Given the description of an element on the screen output the (x, y) to click on. 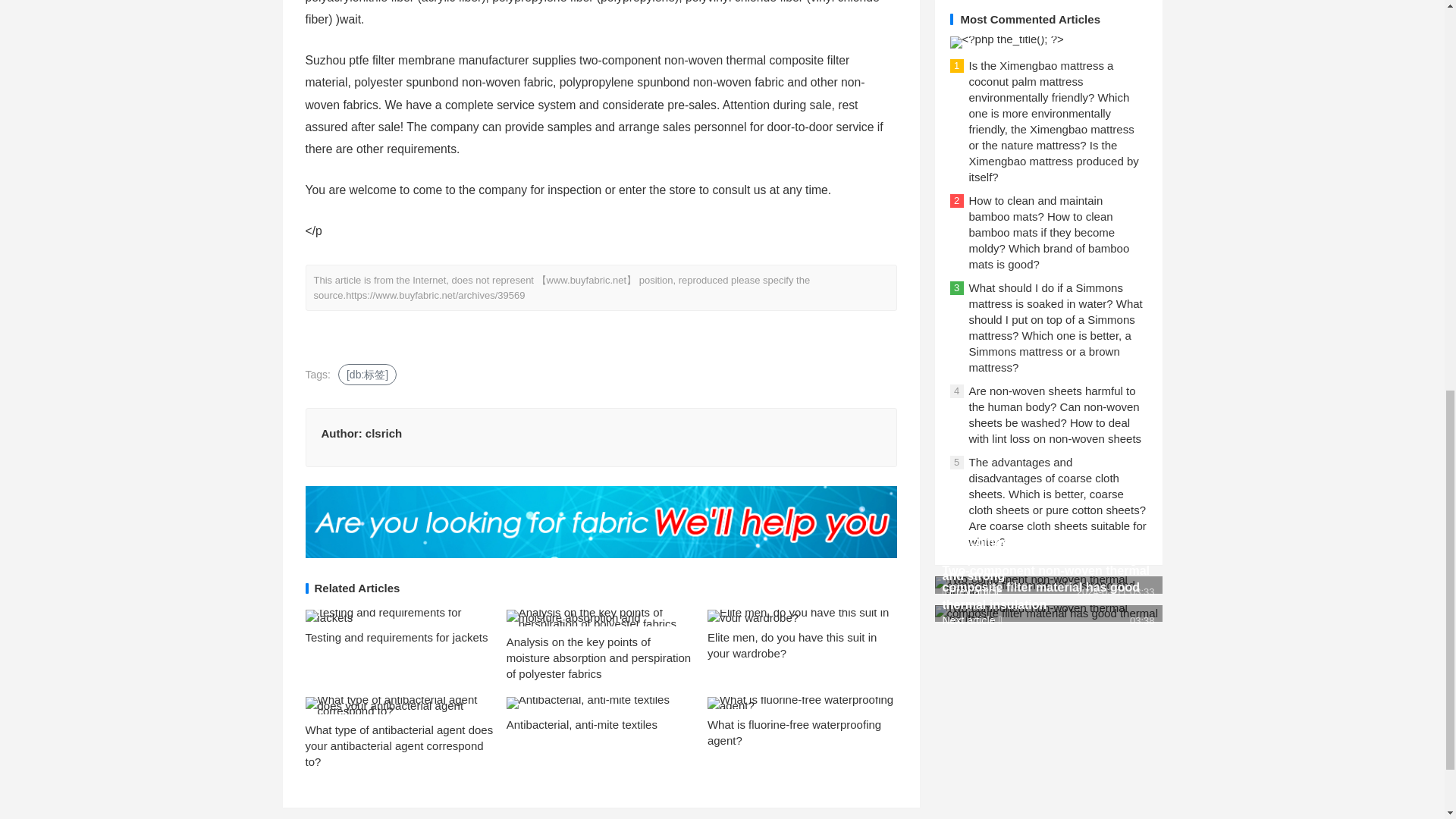
clsrich (383, 432)
Testing and requirements for jackets (395, 636)
Antibacterial, anti-mite textiles (582, 724)
What is fluorine-free waterproofing agent? (793, 732)
Elite men, do you have this suit in your wardrobe? (791, 645)
